Given the description of an element on the screen output the (x, y) to click on. 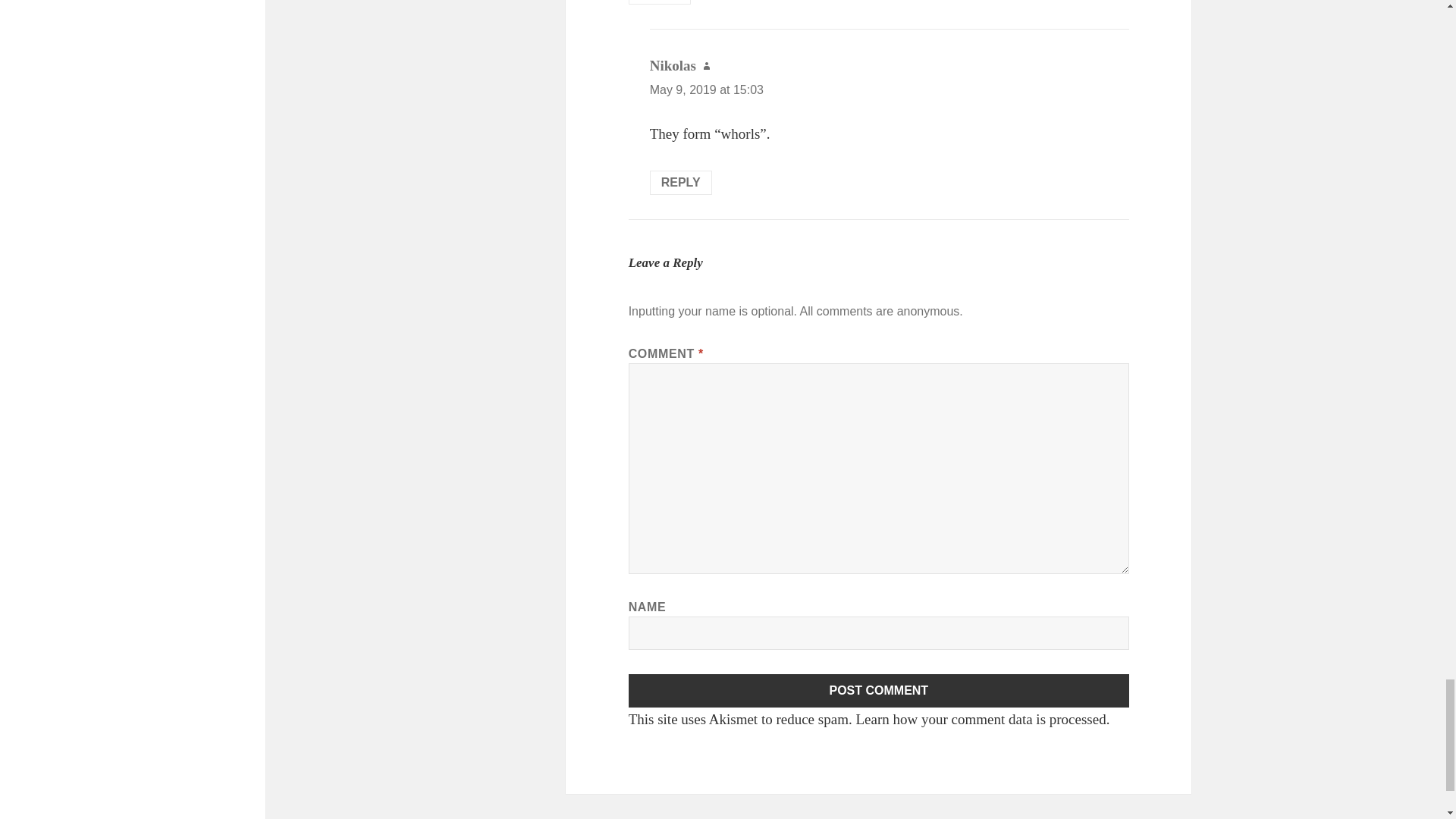
Post Comment (878, 690)
